Given the description of an element on the screen output the (x, y) to click on. 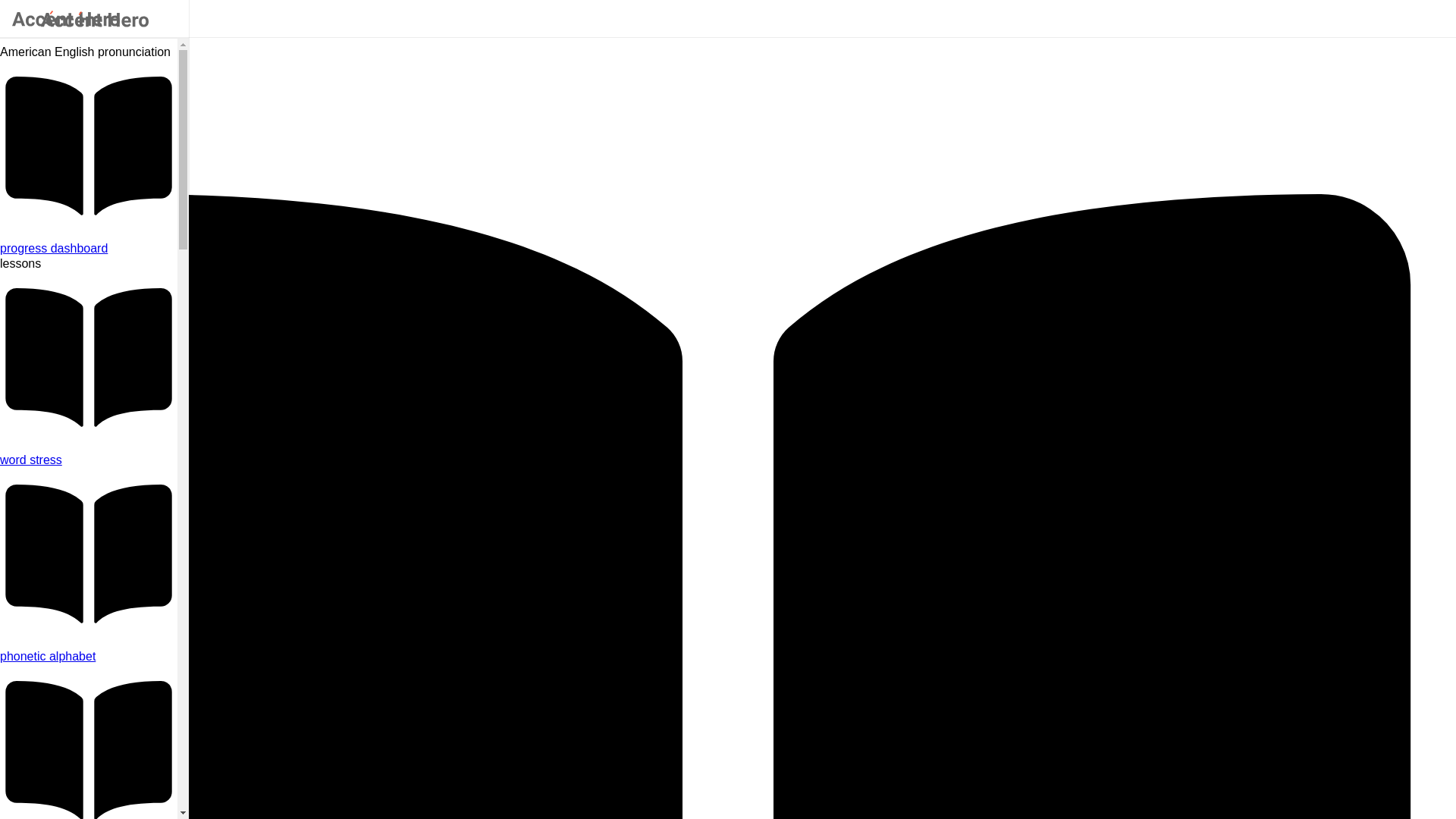
Learn to precisely articulate each sound (88, 656)
Learn how word stress influences your accent (88, 459)
